Given the description of an element on the screen output the (x, y) to click on. 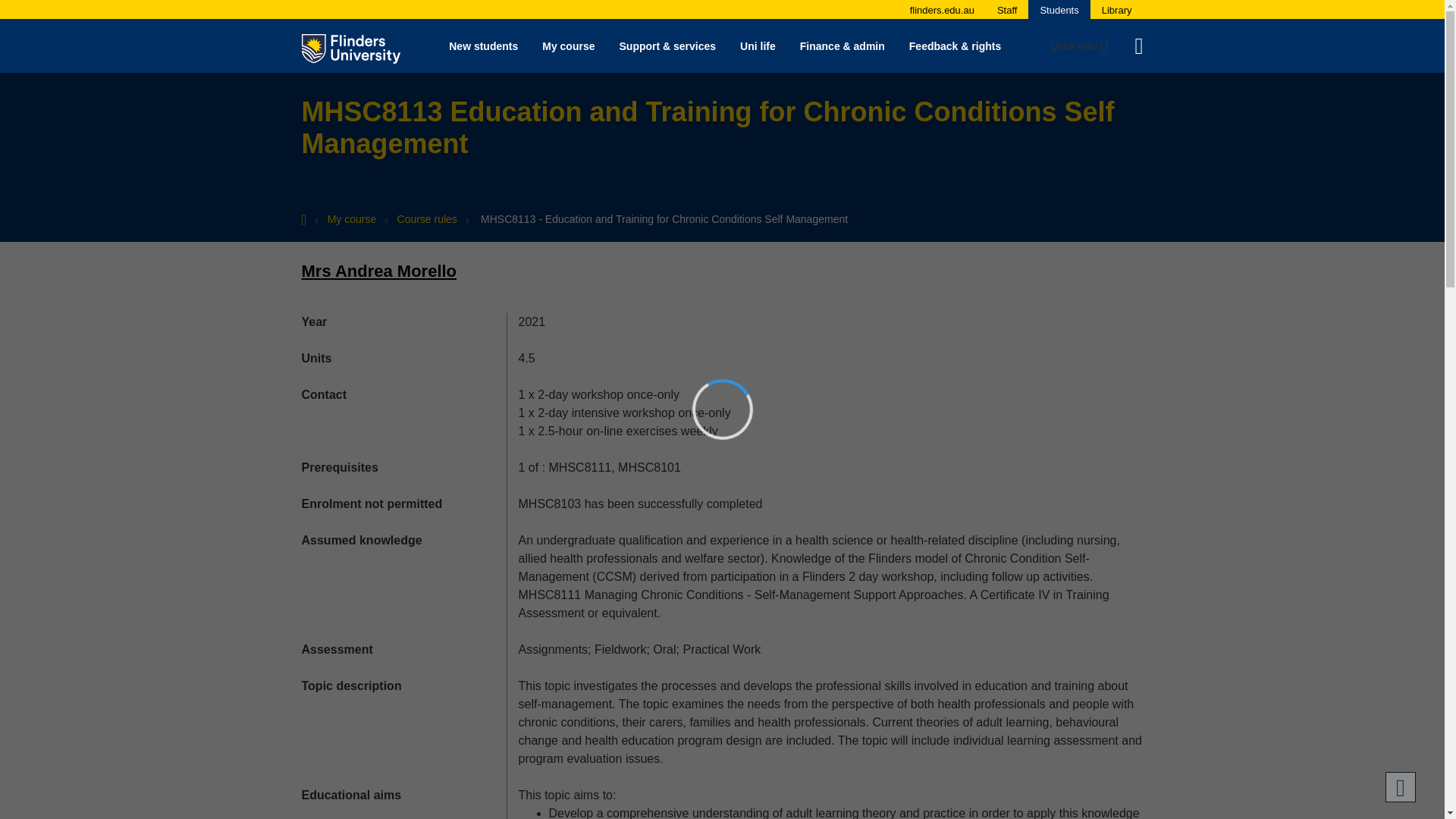
flinders.edu.au (942, 9)
Staff (1007, 9)
My course (568, 45)
Library (1117, 9)
New students (482, 45)
Back to top (1400, 787)
Students (1058, 9)
